Given the description of an element on the screen output the (x, y) to click on. 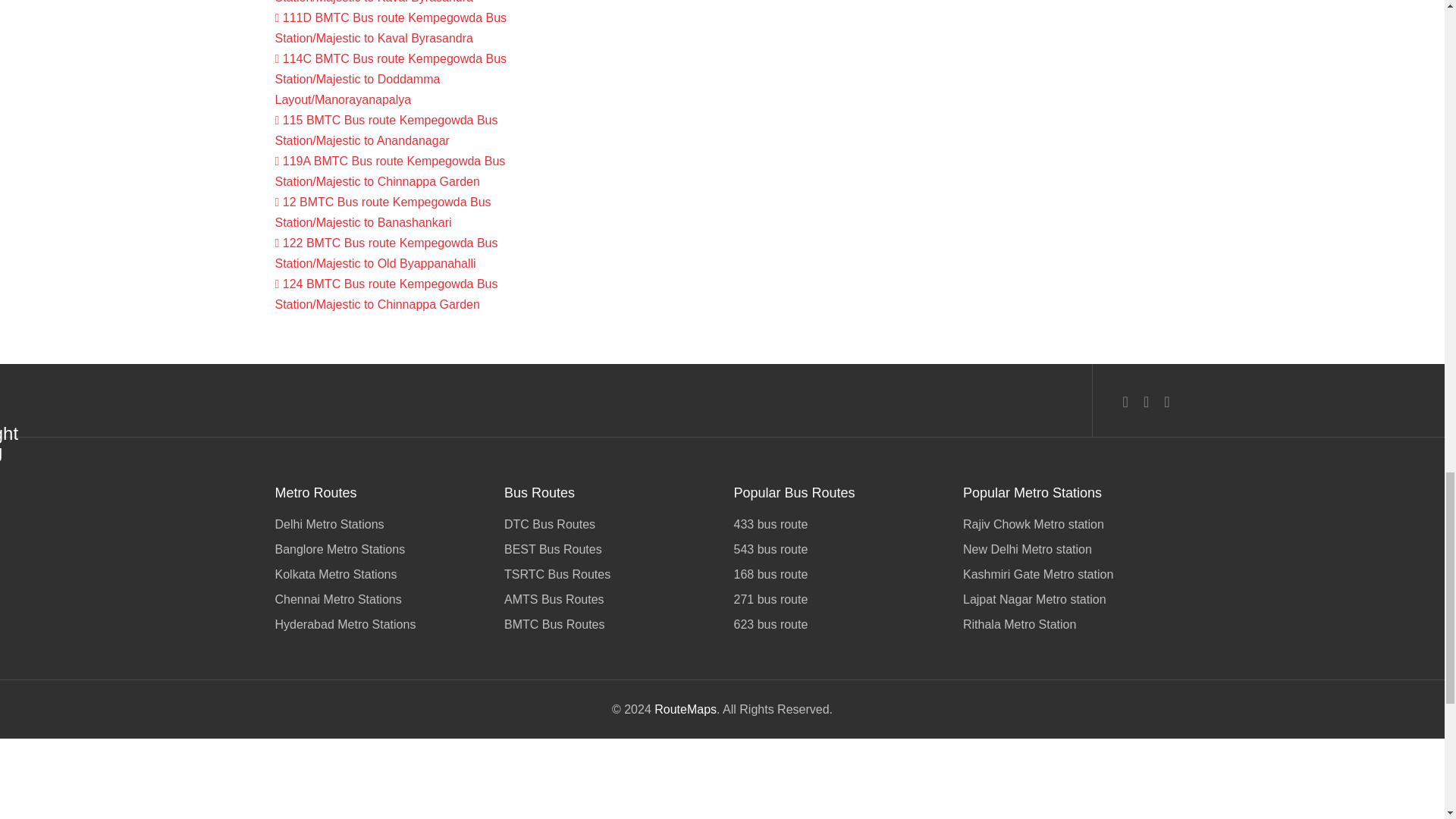
BMTC Bus Routes (607, 622)
Hyderabad Metro Stations (378, 622)
Rajiv Chowk Metro station (1066, 526)
TSRTC Bus Routes (607, 574)
433 bus route (836, 526)
543 bus route (836, 549)
Facebook (1125, 401)
Delhi Metro Stations (378, 526)
Kolkata Metro Stations (378, 574)
AMTS Bus Routes (607, 599)
